Given the description of an element on the screen output the (x, y) to click on. 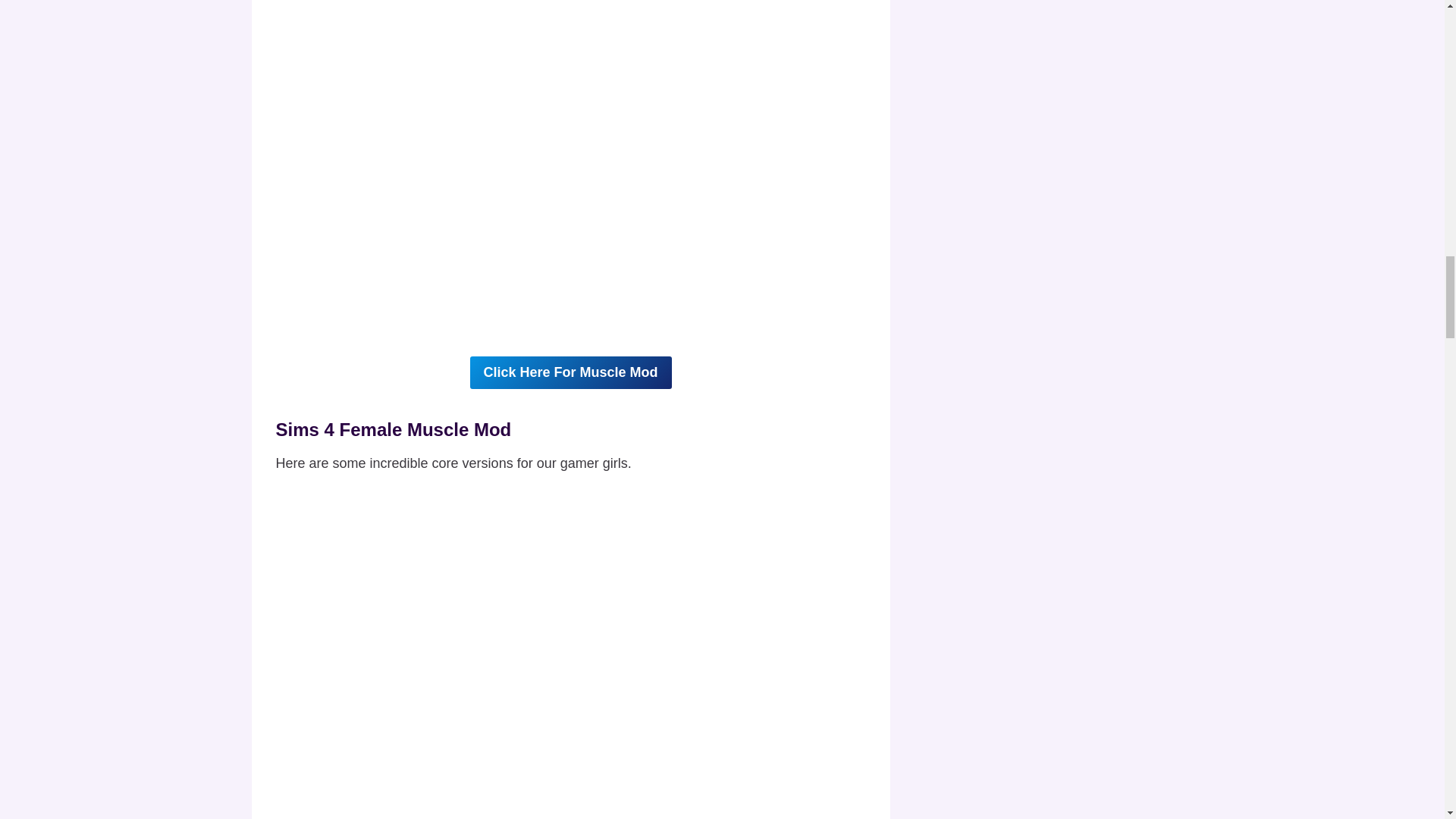
Click Here For Muscle Mod (570, 372)
